Given the description of an element on the screen output the (x, y) to click on. 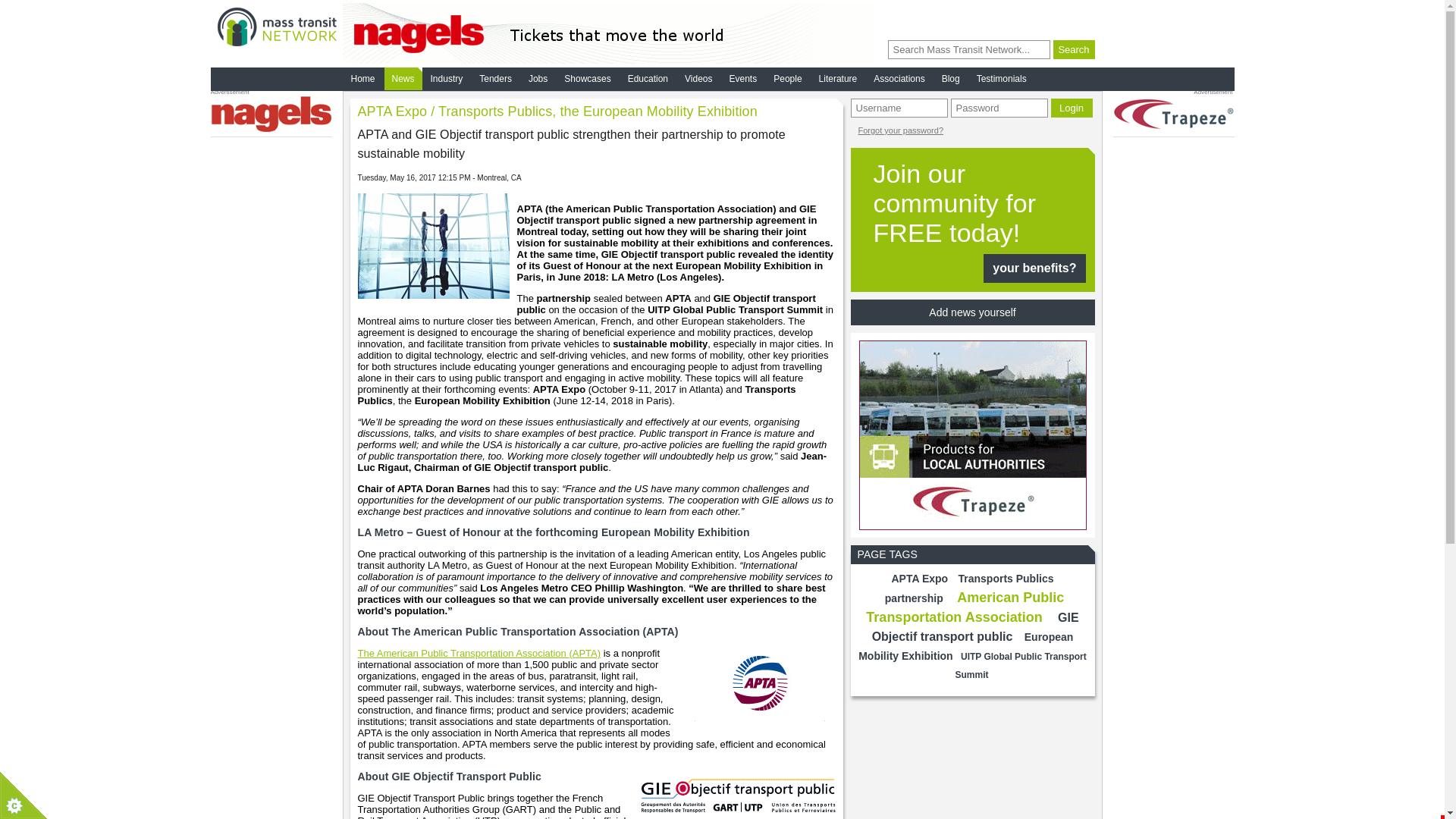
Events (743, 78)
APTA Expo (919, 578)
Home (362, 78)
Go to APTA info (479, 653)
Industry (446, 78)
partnership (913, 598)
Add news yourself (972, 312)
Login (1072, 107)
UITP Global Public Transport Summit (1020, 665)
News (402, 78)
